Given the description of an element on the screen output the (x, y) to click on. 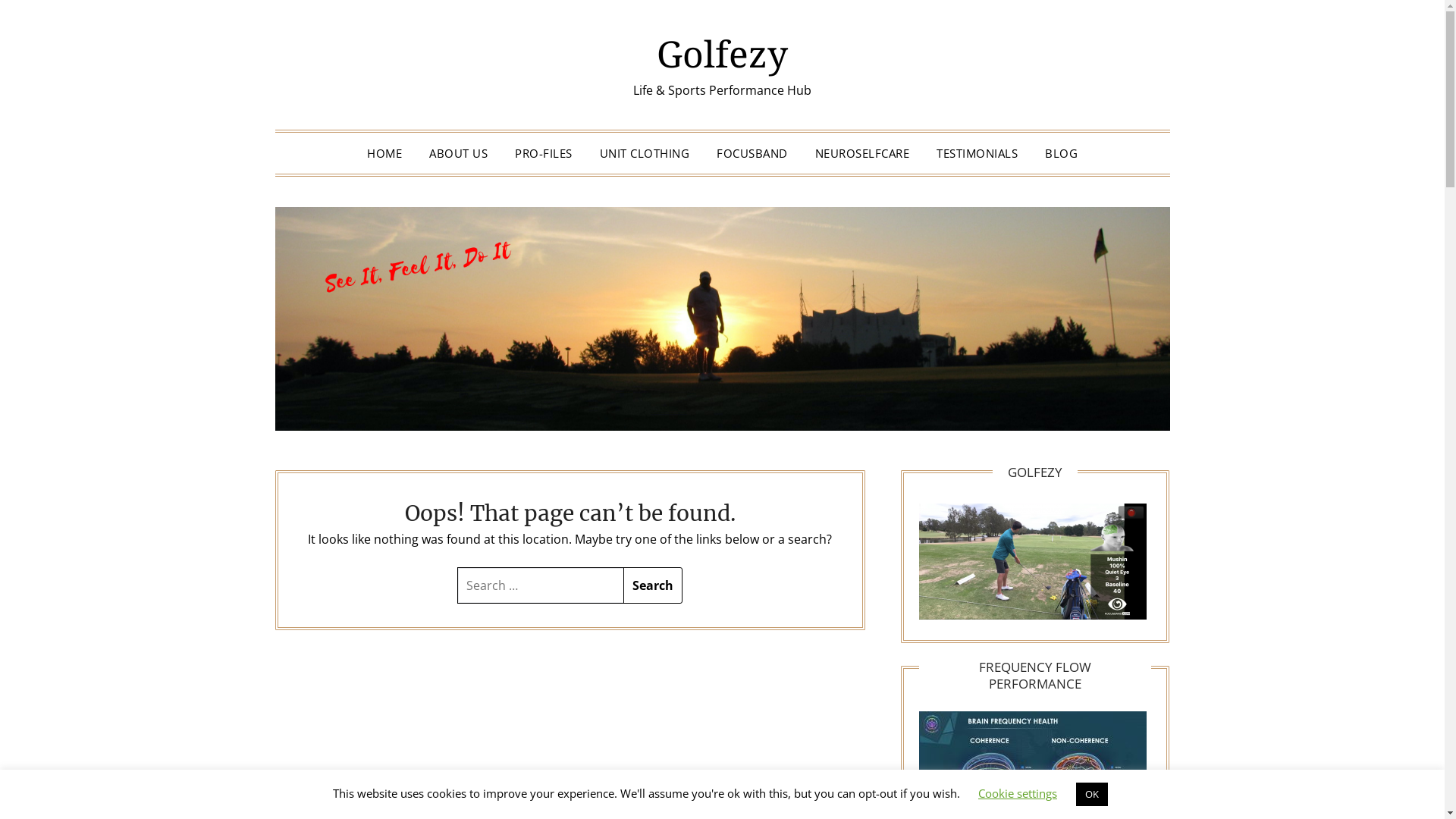
TESTIMONIALS Element type: text (976, 152)
NEUROSELFCARE Element type: text (861, 152)
BLOG Element type: text (1060, 152)
FOCUSBAND Element type: text (752, 152)
OK Element type: text (1091, 794)
Golfezy Element type: text (721, 53)
Search Element type: text (652, 585)
HOME Element type: text (384, 152)
Cookie settings Element type: text (1017, 792)
ABOUT US Element type: text (458, 152)
UNIT CLOTHING Element type: text (643, 152)
PRO-FILES Element type: text (543, 152)
Search Element type: text (29, 18)
